Given the description of an element on the screen output the (x, y) to click on. 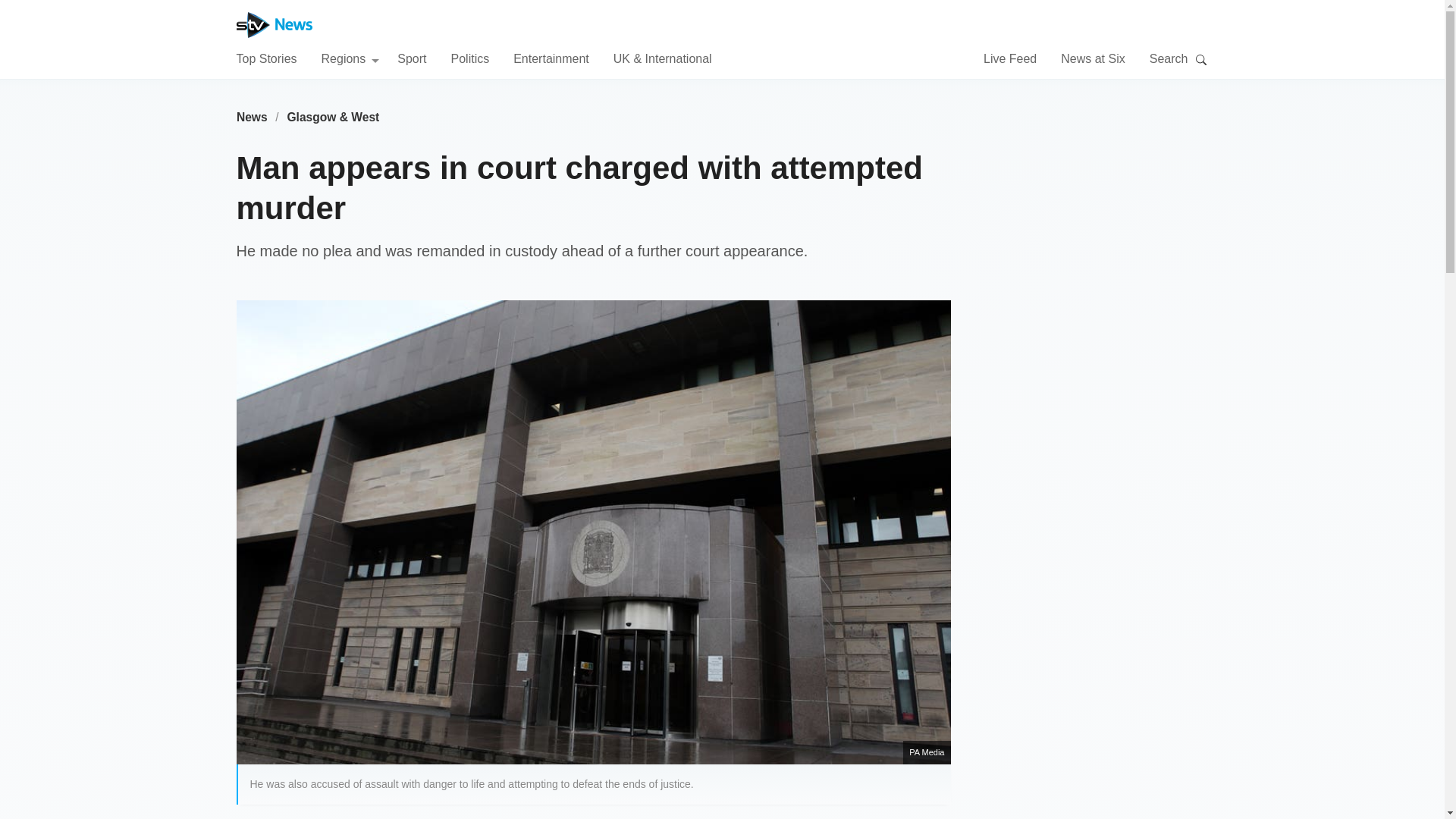
News (252, 116)
News at Six (1092, 57)
Search (1201, 59)
Regions (350, 57)
Top Stories (266, 57)
Politics (469, 57)
Live Feed (1010, 57)
Entertainment (551, 57)
